Given the description of an element on the screen output the (x, y) to click on. 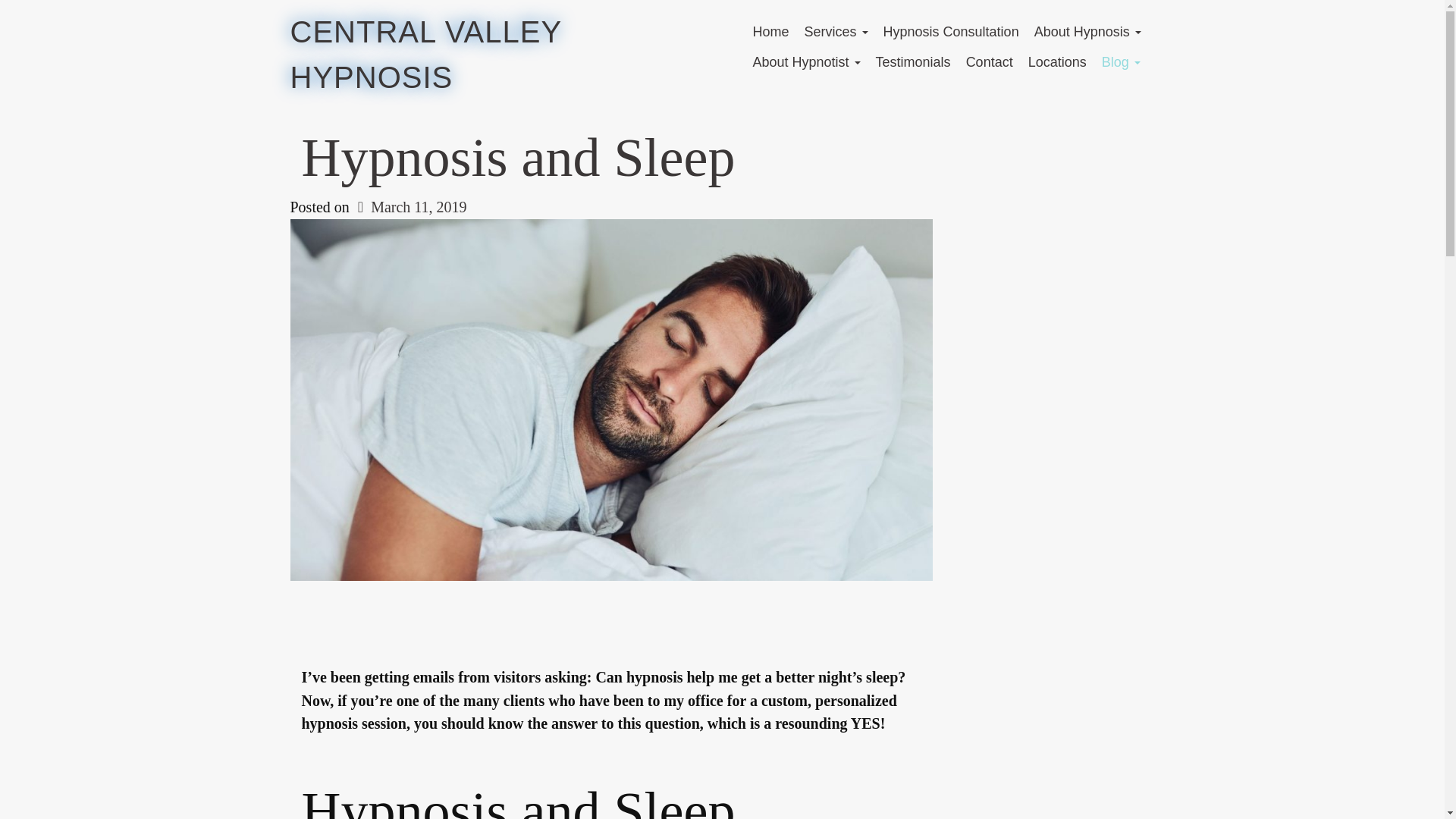
Blog (1121, 61)
Hypnosis Consultation (951, 31)
Contact (989, 61)
CENTRAL VALLEY HYPNOSIS (424, 54)
About Hypnotist (805, 61)
Locations (1057, 61)
Services (836, 31)
Testimonials (912, 61)
About Hypnosis (1087, 31)
March 11, 2019 (410, 207)
